Given the description of an element on the screen output the (x, y) to click on. 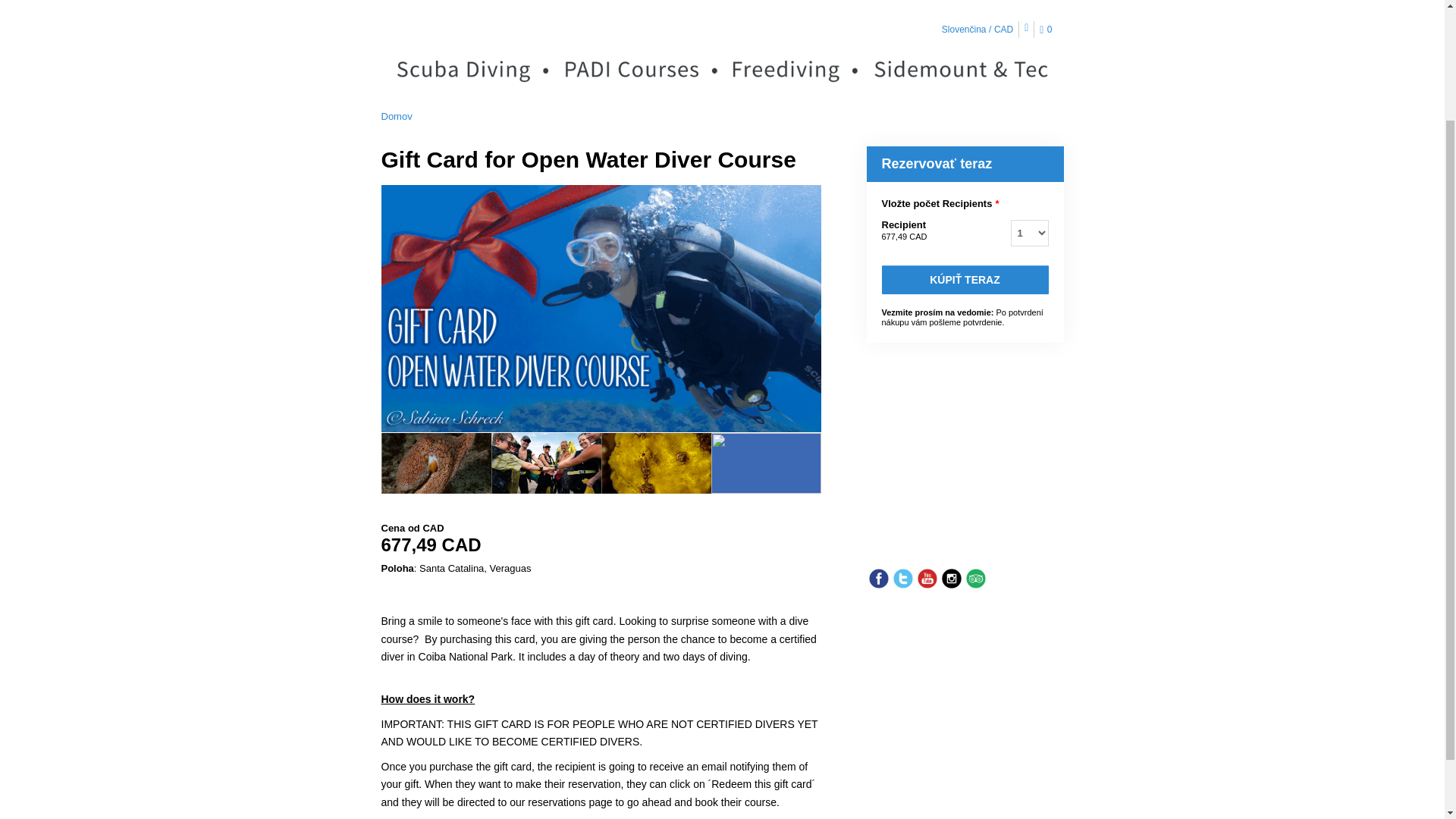
Estimated conversion from 495 (903, 235)
Estimated conversion from 495 (600, 545)
